Given the description of an element on the screen output the (x, y) to click on. 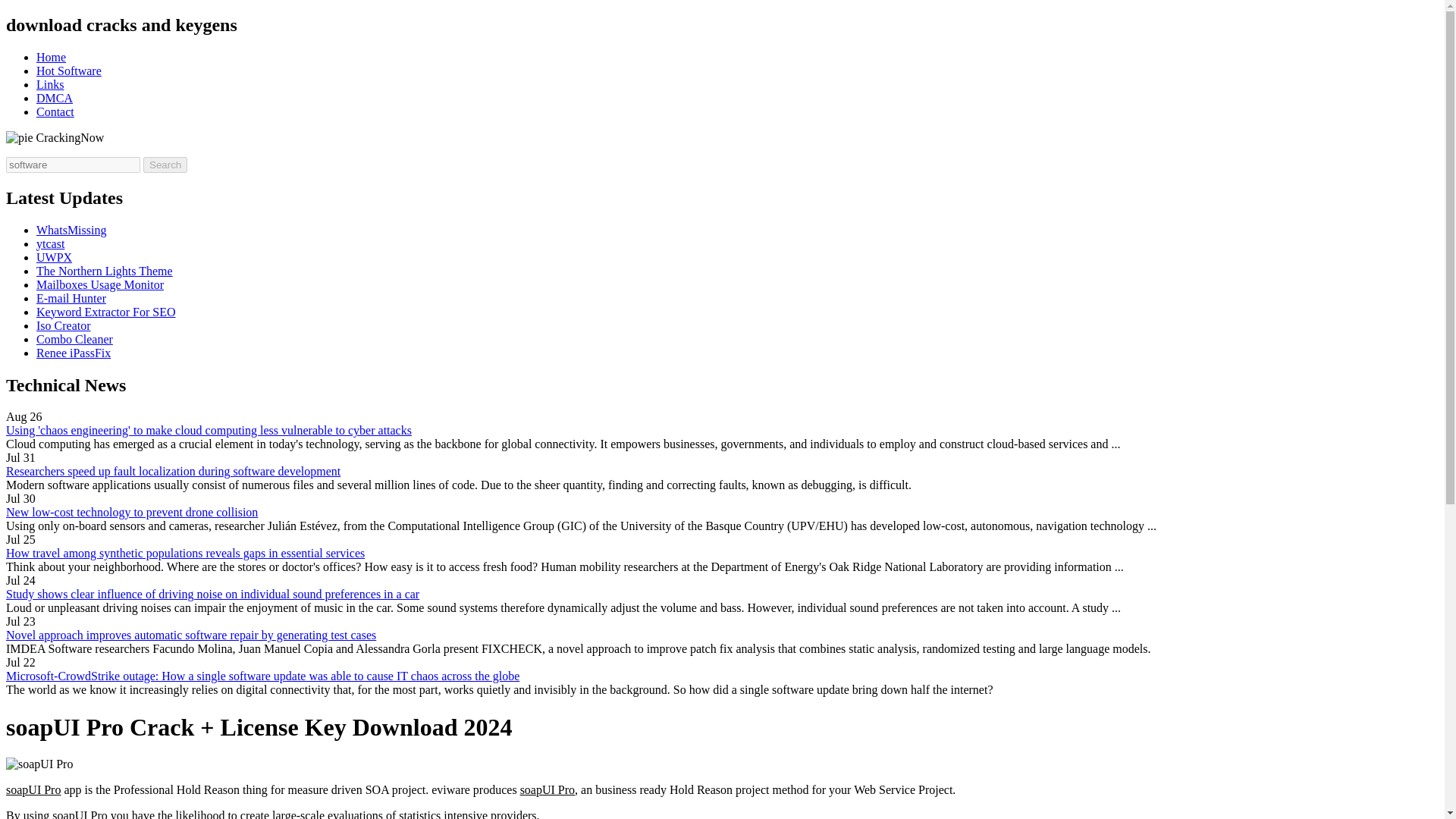
Search (164, 164)
Combo Cleaner (74, 338)
Links (50, 83)
The Northern Lights Theme (104, 270)
DMCA (54, 97)
New low-cost technology to prevent drone collision (131, 512)
Home (50, 56)
E-mail Hunter (71, 297)
ytcast (50, 243)
